Given the description of an element on the screen output the (x, y) to click on. 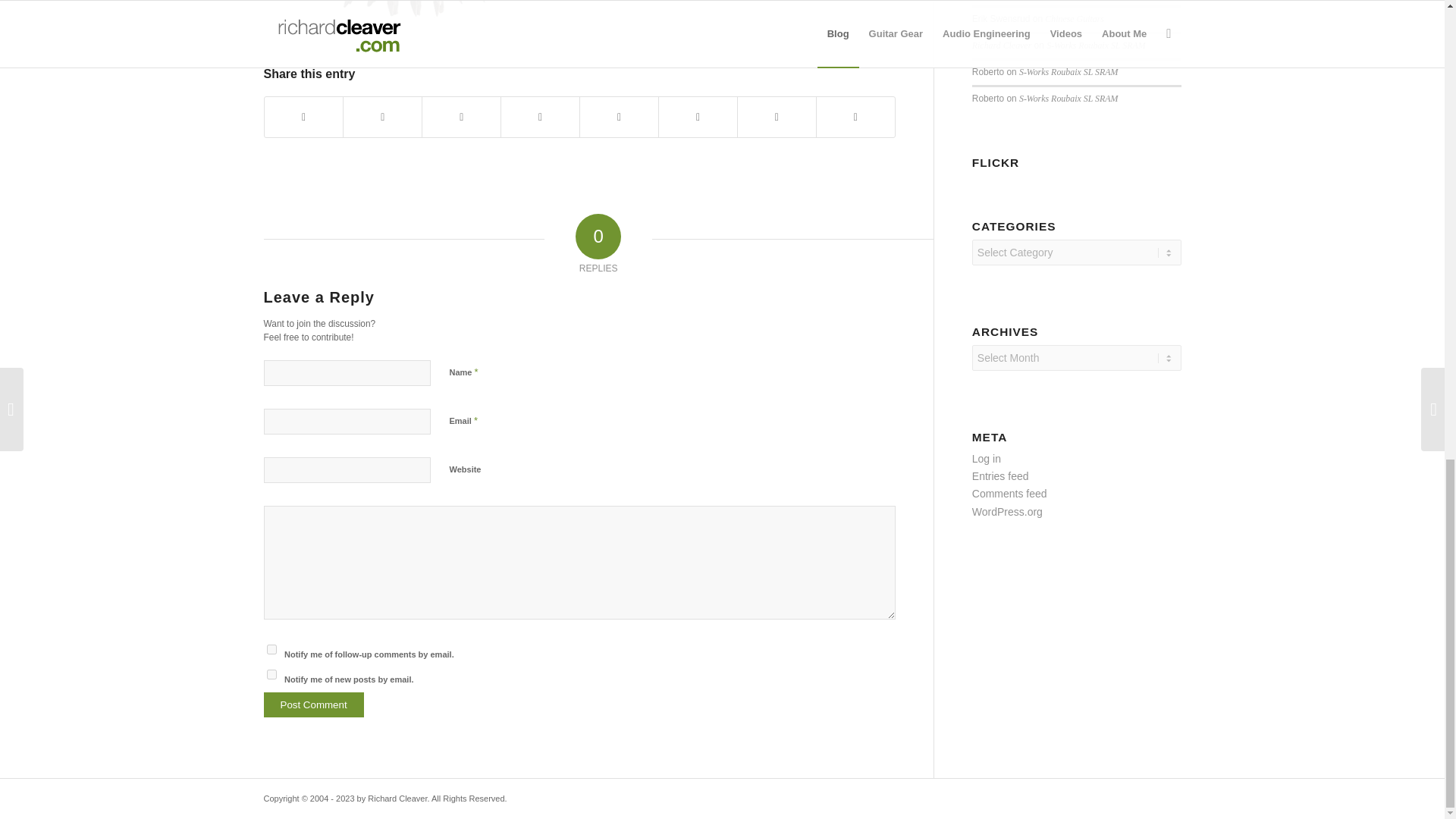
subscribe (271, 649)
subscribe (271, 674)
Chinese Guitars (1074, 18)
S-Works Roubaix SL SRAM (1095, 45)
S-Works Roubaix SL SRAM (1068, 71)
Post Comment (313, 704)
Post Comment (313, 704)
spikes (415, 15)
S-Works Roubaix SL SRAM (1068, 98)
Richard Cleaver (1001, 45)
